Given the description of an element on the screen output the (x, y) to click on. 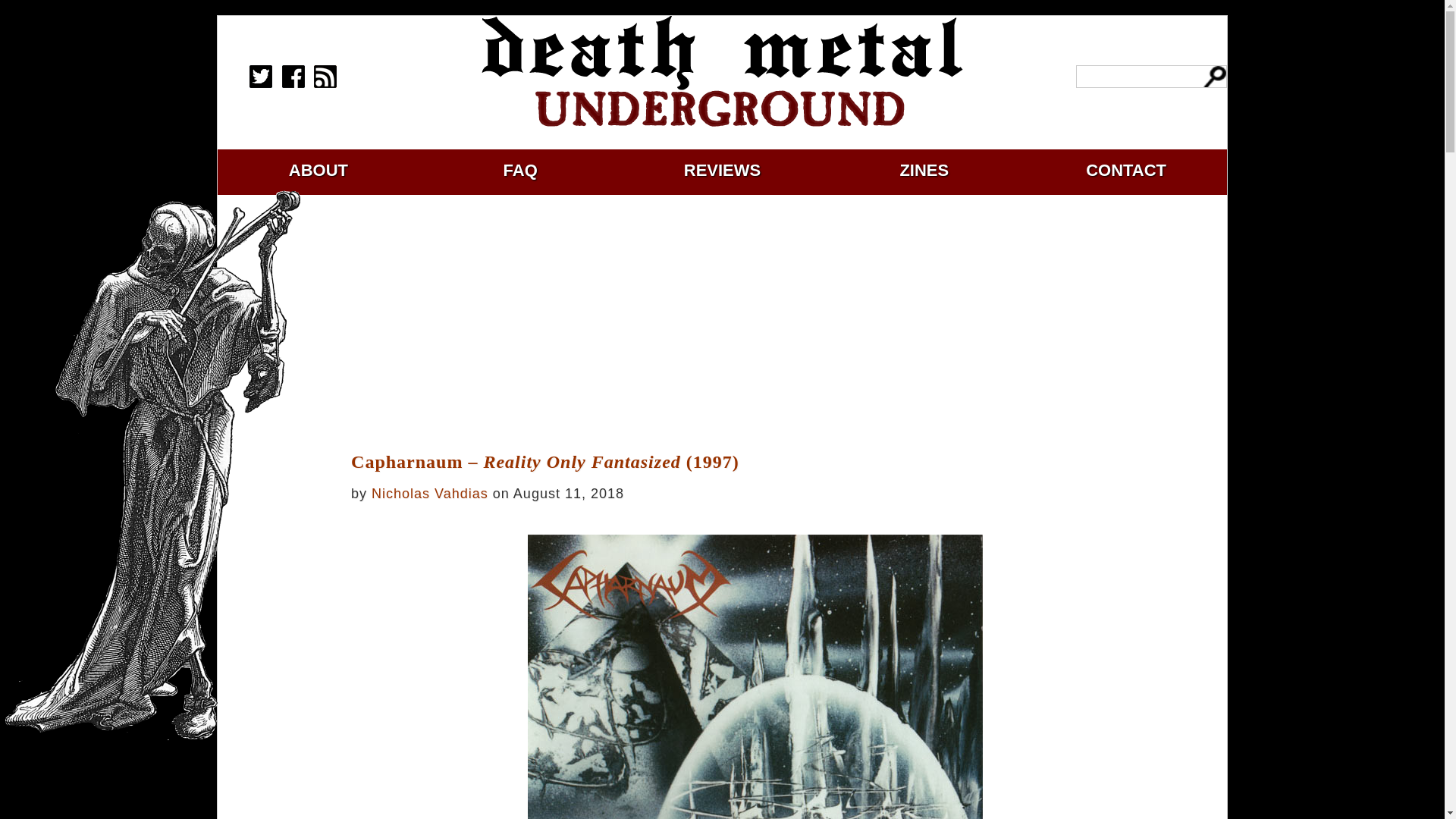
REVIEWS (722, 169)
CONTACT (1126, 169)
ABOUT (317, 169)
Nicholas Vahdias (429, 493)
ZINES (924, 169)
FAQ (520, 169)
